Given the description of an element on the screen output the (x, y) to click on. 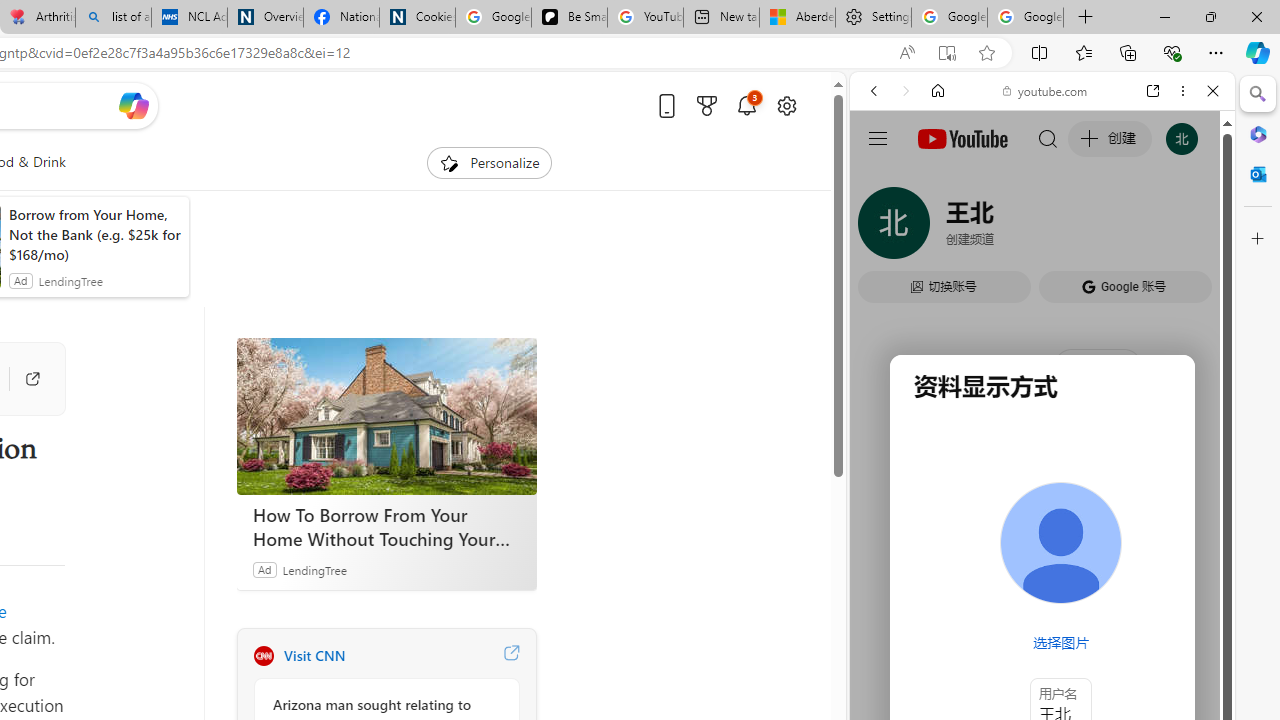
Search videos from youtube.com (1005, 657)
Be Smart | creating Science videos | Patreon (569, 17)
YouTube (1034, 296)
